Given the description of an element on the screen output the (x, y) to click on. 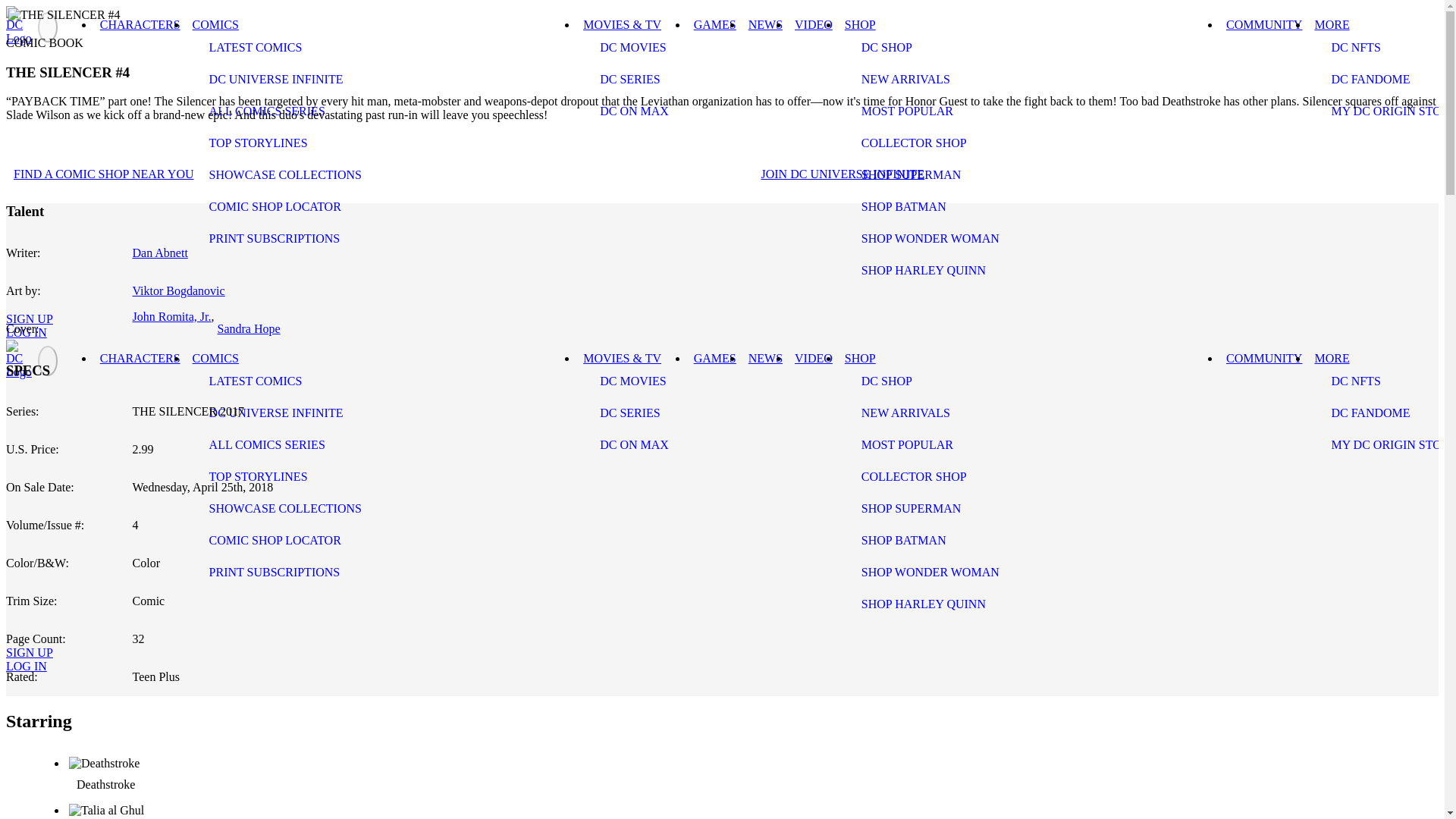
GAMES (714, 24)
CHARACTERS (140, 358)
Open search (25, 299)
Talia al Ghul (739, 811)
NEWS (765, 24)
SIGN UP (28, 318)
COMICS (215, 24)
VIDEO (813, 24)
